Given the description of an element on the screen output the (x, y) to click on. 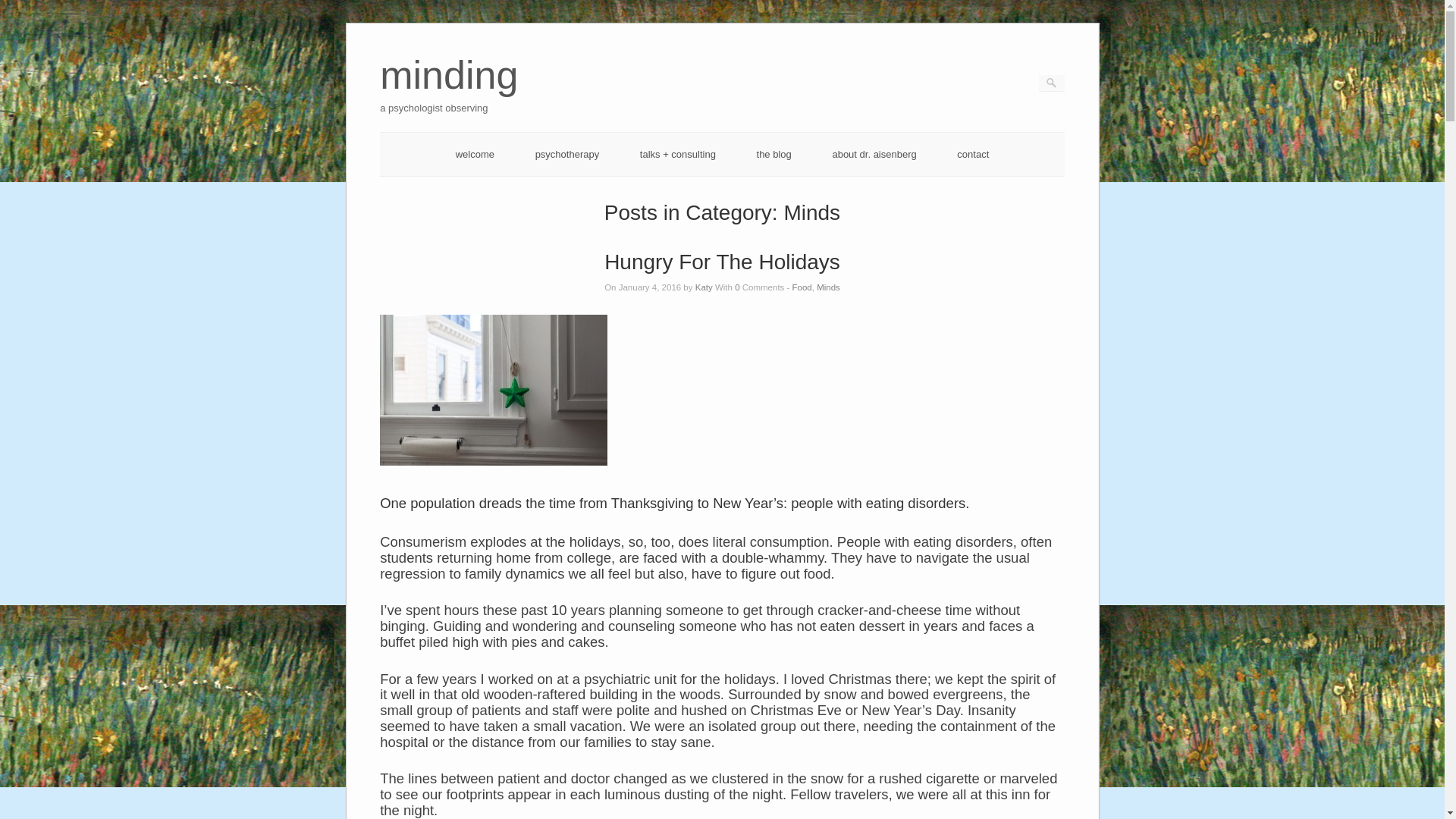
Minds (449, 96)
Katy (828, 286)
Search (704, 286)
welcome (21, 7)
the blog (475, 153)
Hungry For The Holidays (774, 153)
psychotherapy (722, 261)
contact (567, 153)
about dr. aisenberg (972, 153)
